Given the description of an element on the screen output the (x, y) to click on. 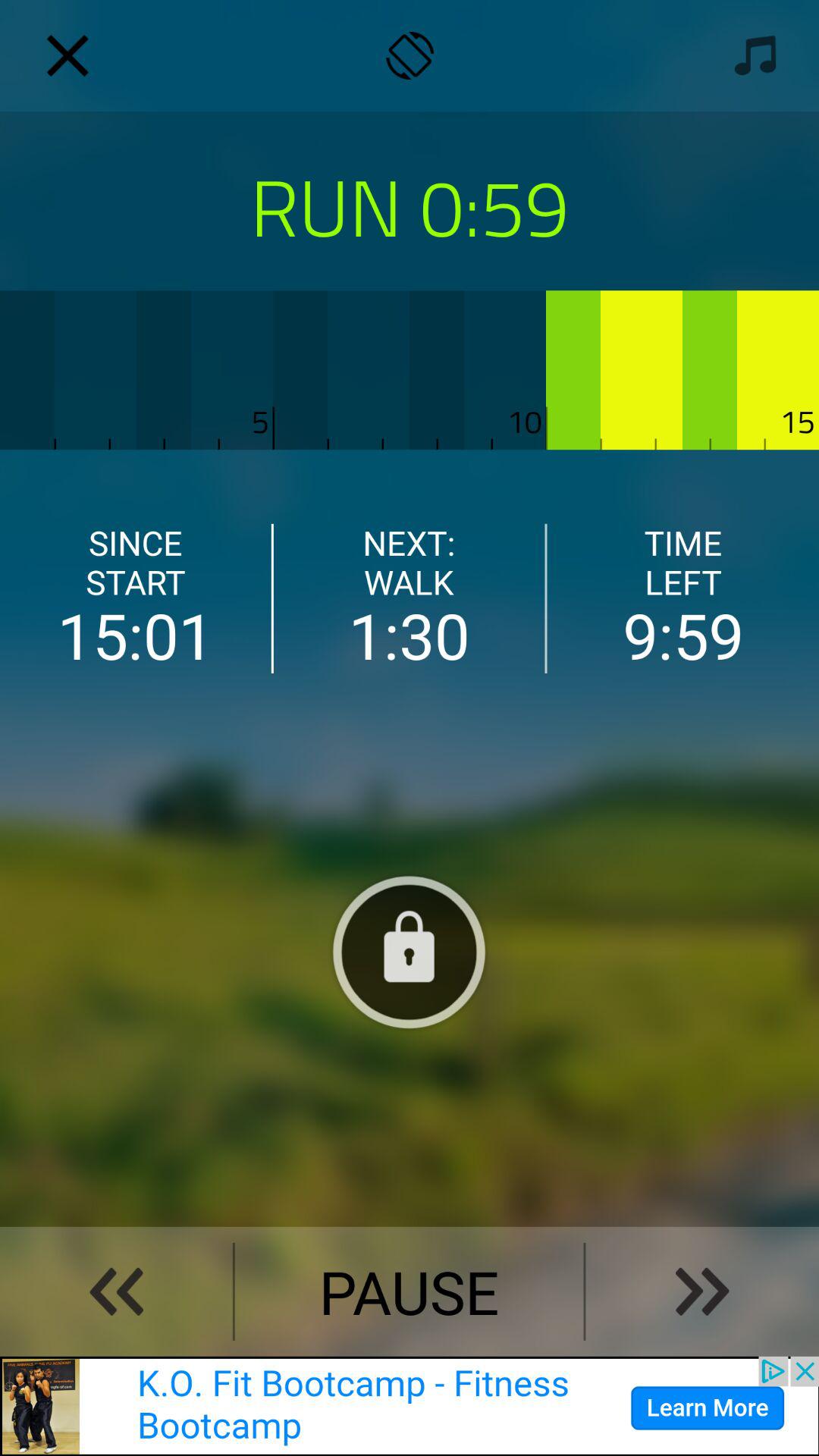
exit page (67, 55)
